Given the description of an element on the screen output the (x, y) to click on. 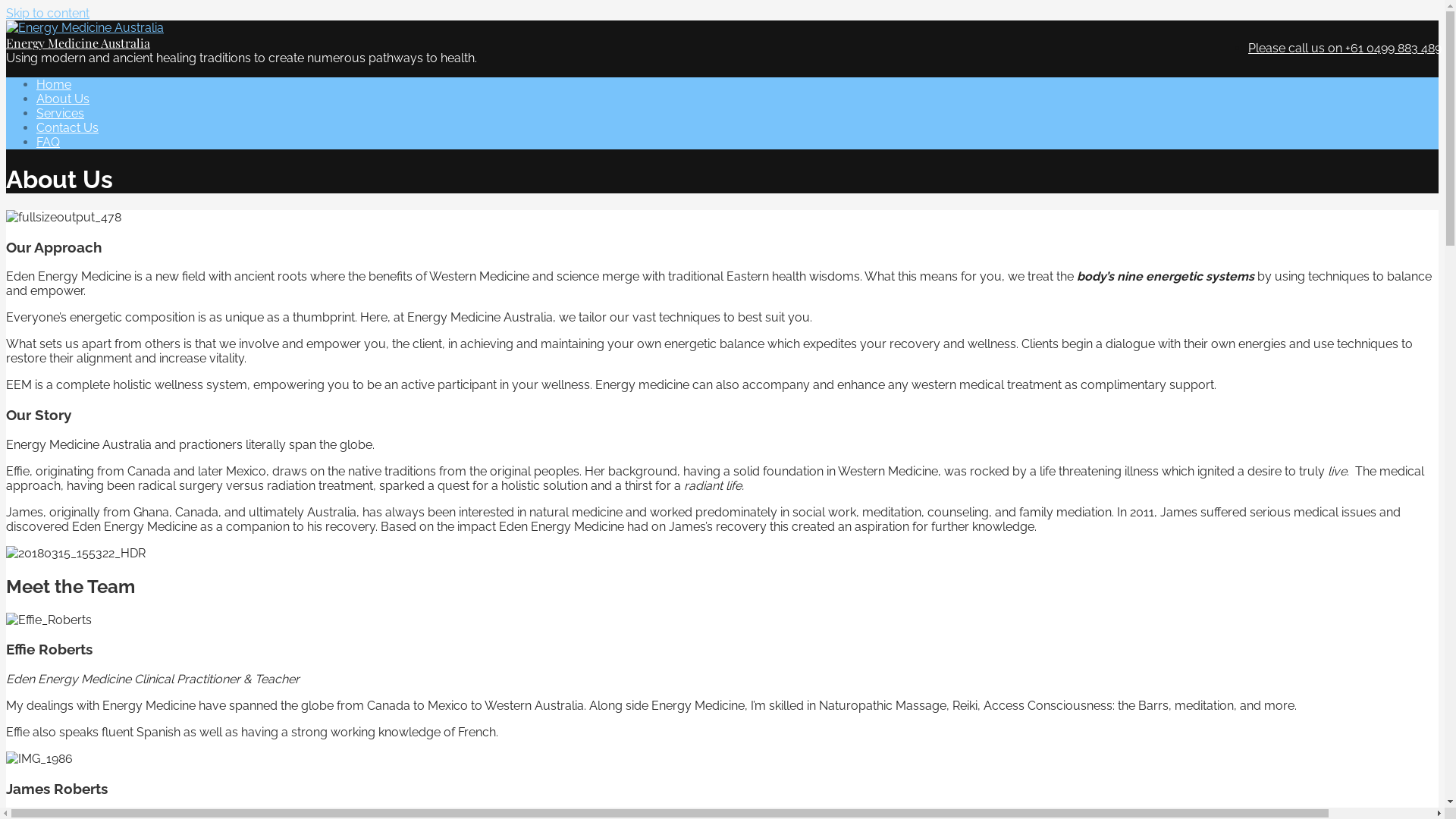
20180315_155322_HDR Element type: hover (75, 553)
Please call us on +61 0499 883 489 Element type: text (1344, 47)
About Us Element type: text (62, 98)
FAQ Element type: text (47, 141)
Skip to content Element type: text (47, 13)
Contact Us Element type: text (67, 127)
Services Element type: text (60, 113)
Energy Medicine Australia Element type: text (78, 42)
IMG_1986 Element type: hover (39, 758)
Effie_Roberts Element type: hover (48, 619)
Home Element type: text (53, 84)
fullsizeoutput_478 Element type: hover (63, 217)
